Given the description of an element on the screen output the (x, y) to click on. 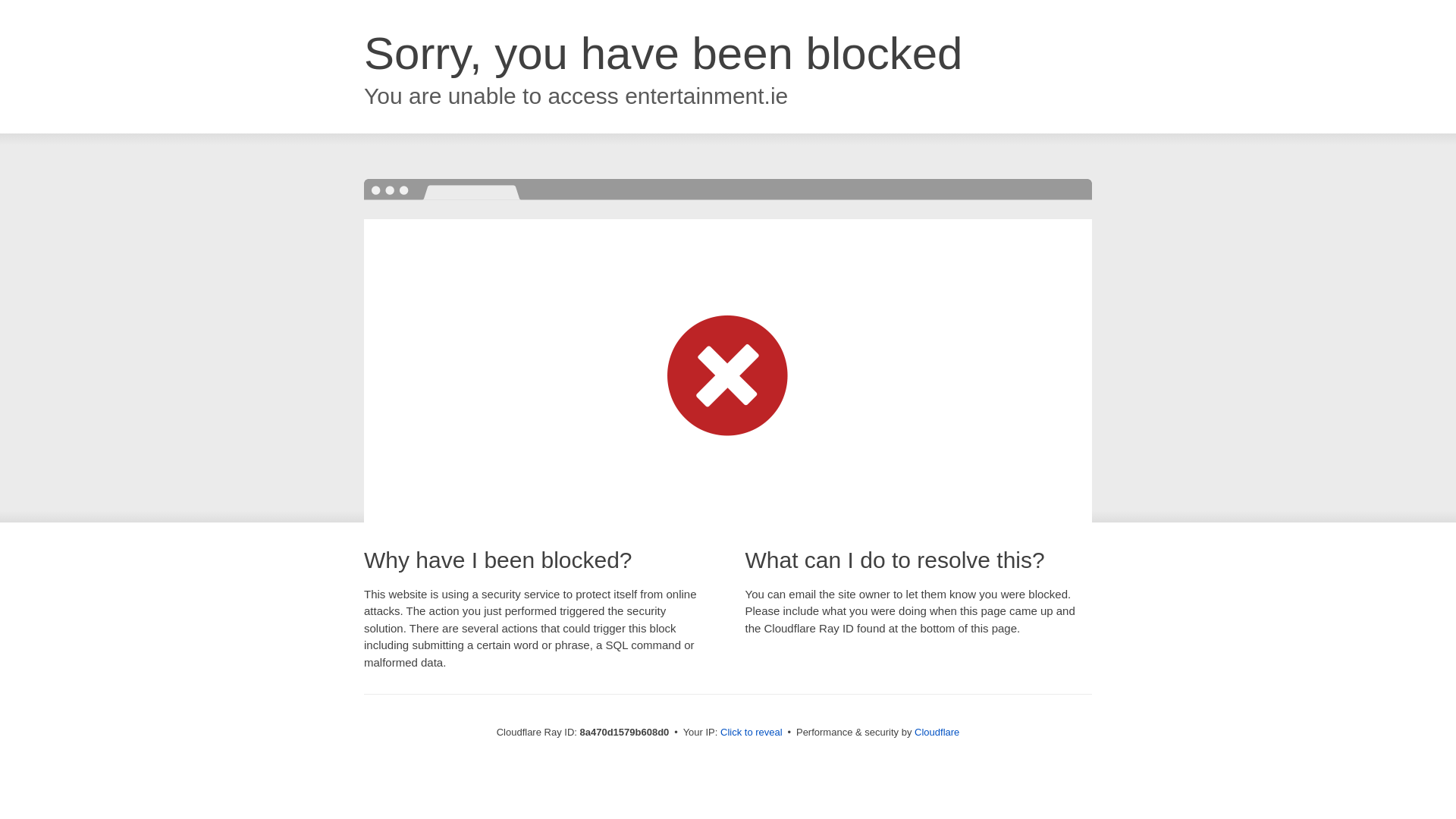
Cloudflare (936, 731)
Click to reveal (751, 732)
